Given the description of an element on the screen output the (x, y) to click on. 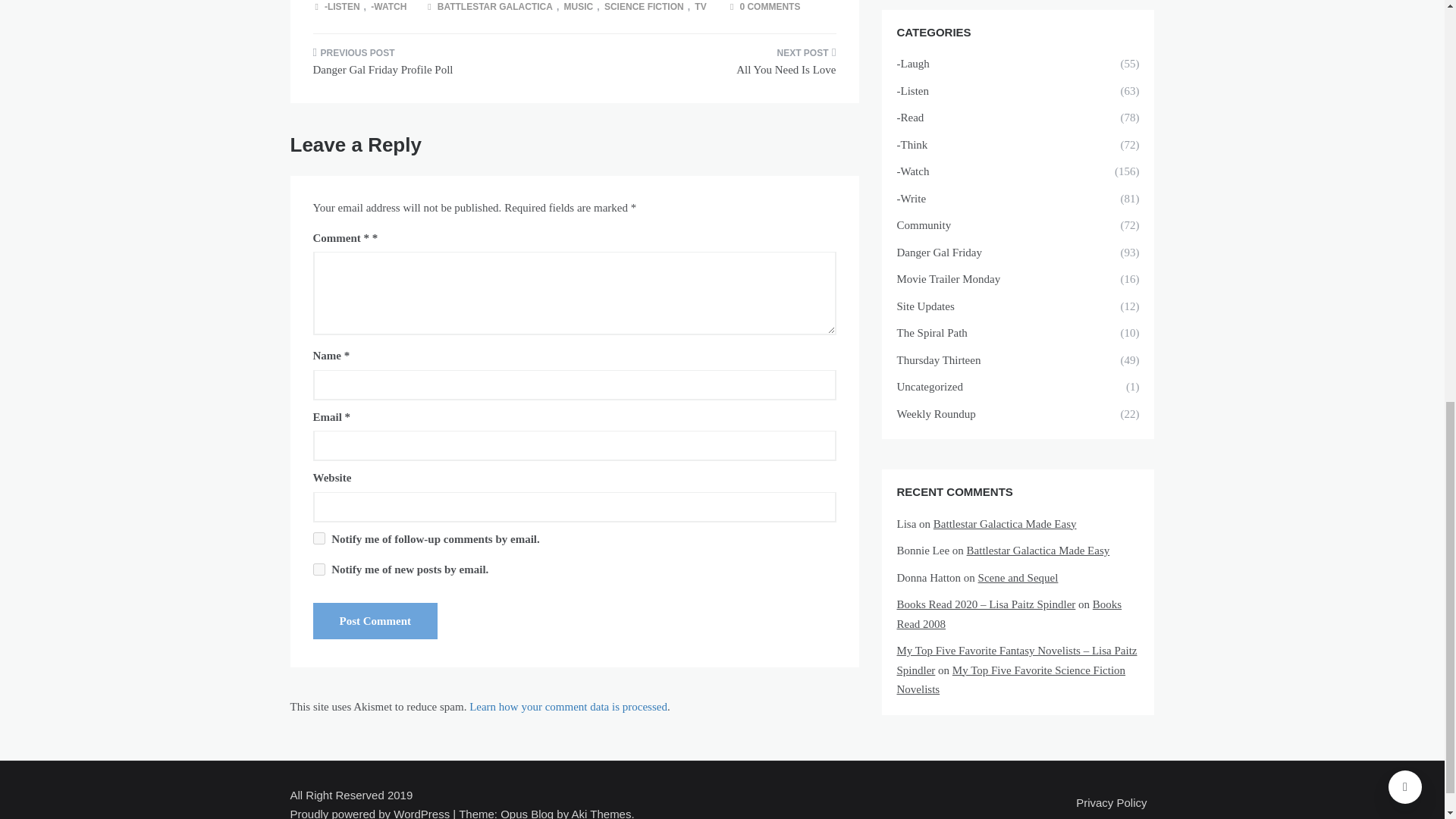
-LISTEN (342, 6)
SCIENCE FICTION (644, 6)
TV (701, 6)
Post Comment (375, 620)
-Laugh (972, 64)
Post Comment (375, 620)
Learn how your comment data is processed (567, 706)
Danger Gal Friday Profile Poll (437, 66)
subscribe (318, 538)
All You Need Is Love (710, 66)
